Given the description of an element on the screen output the (x, y) to click on. 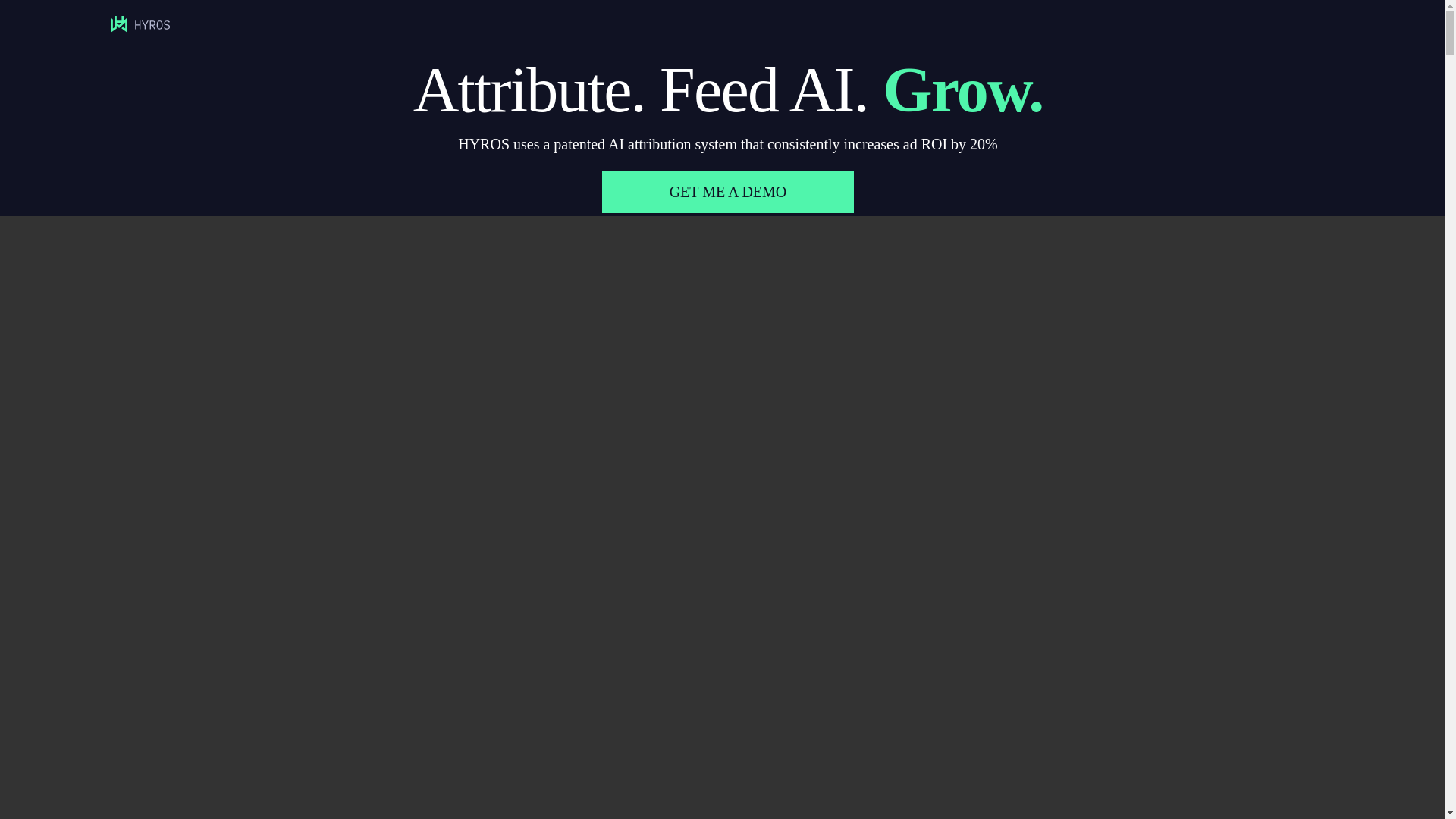
GET ME A DEMO (728, 191)
